Given the description of an element on the screen output the (x, y) to click on. 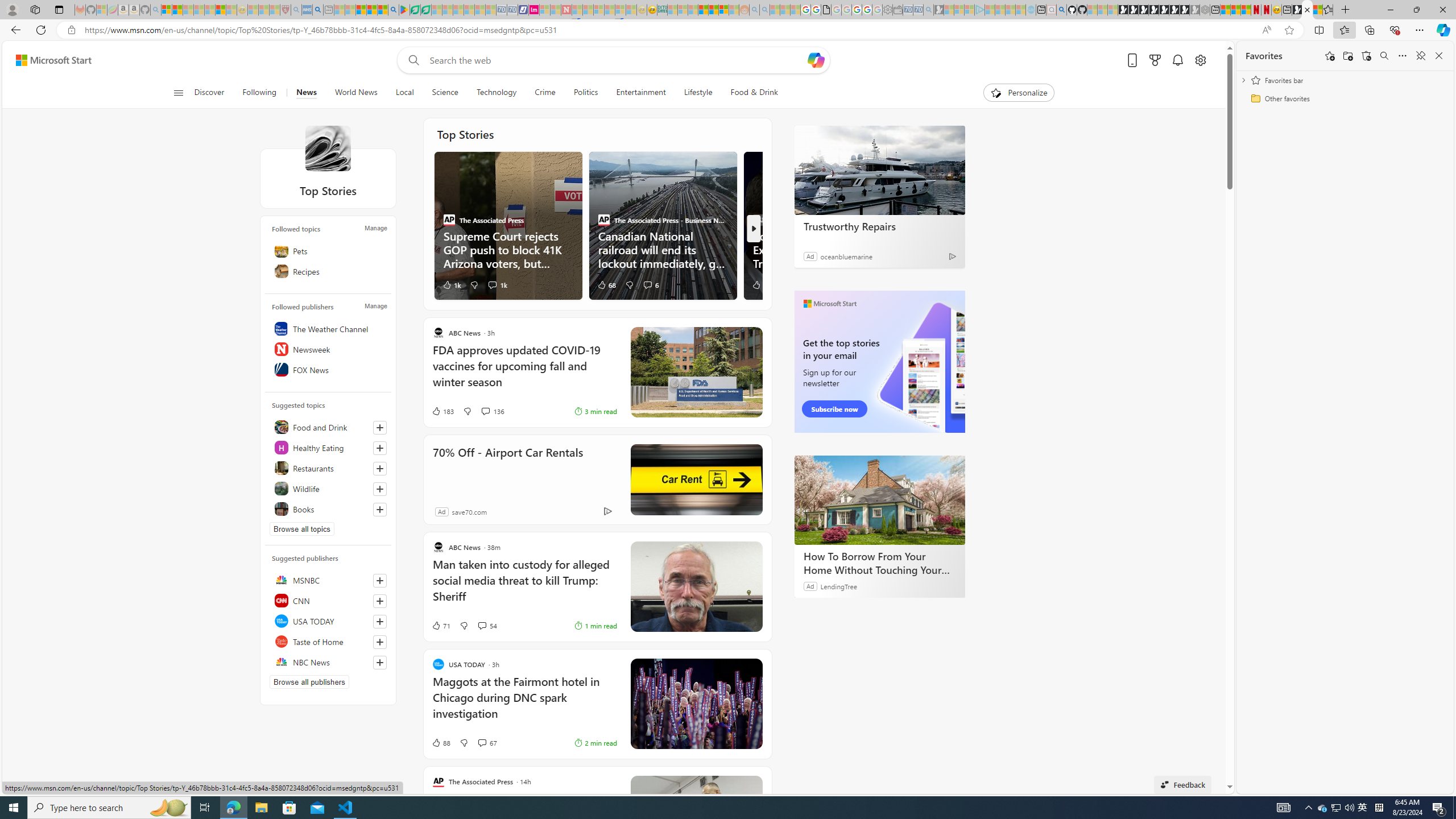
View comments 136 Comment (492, 410)
save70.com (468, 511)
Kinda Frugal - MSN (713, 9)
View comments 67 Comment (481, 741)
View comments 54 Comment (487, 625)
Search favorites (1383, 55)
Books (327, 508)
